Given the description of an element on the screen output the (x, y) to click on. 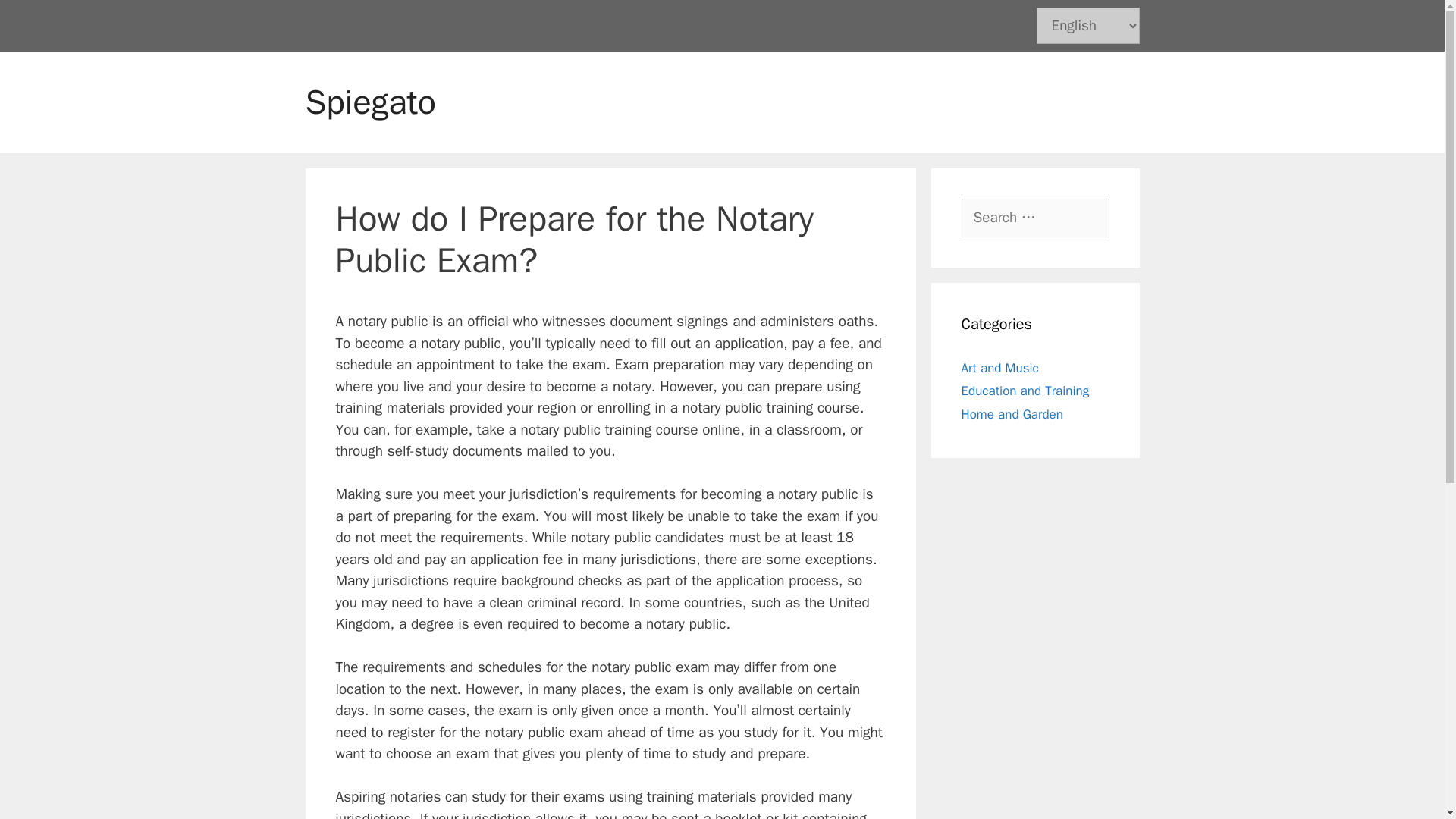
Search (37, 19)
Education and Training (1024, 390)
Search for: (1034, 218)
Art and Music (999, 367)
Home and Garden (1011, 414)
Spiegato (369, 102)
